Given the description of an element on the screen output the (x, y) to click on. 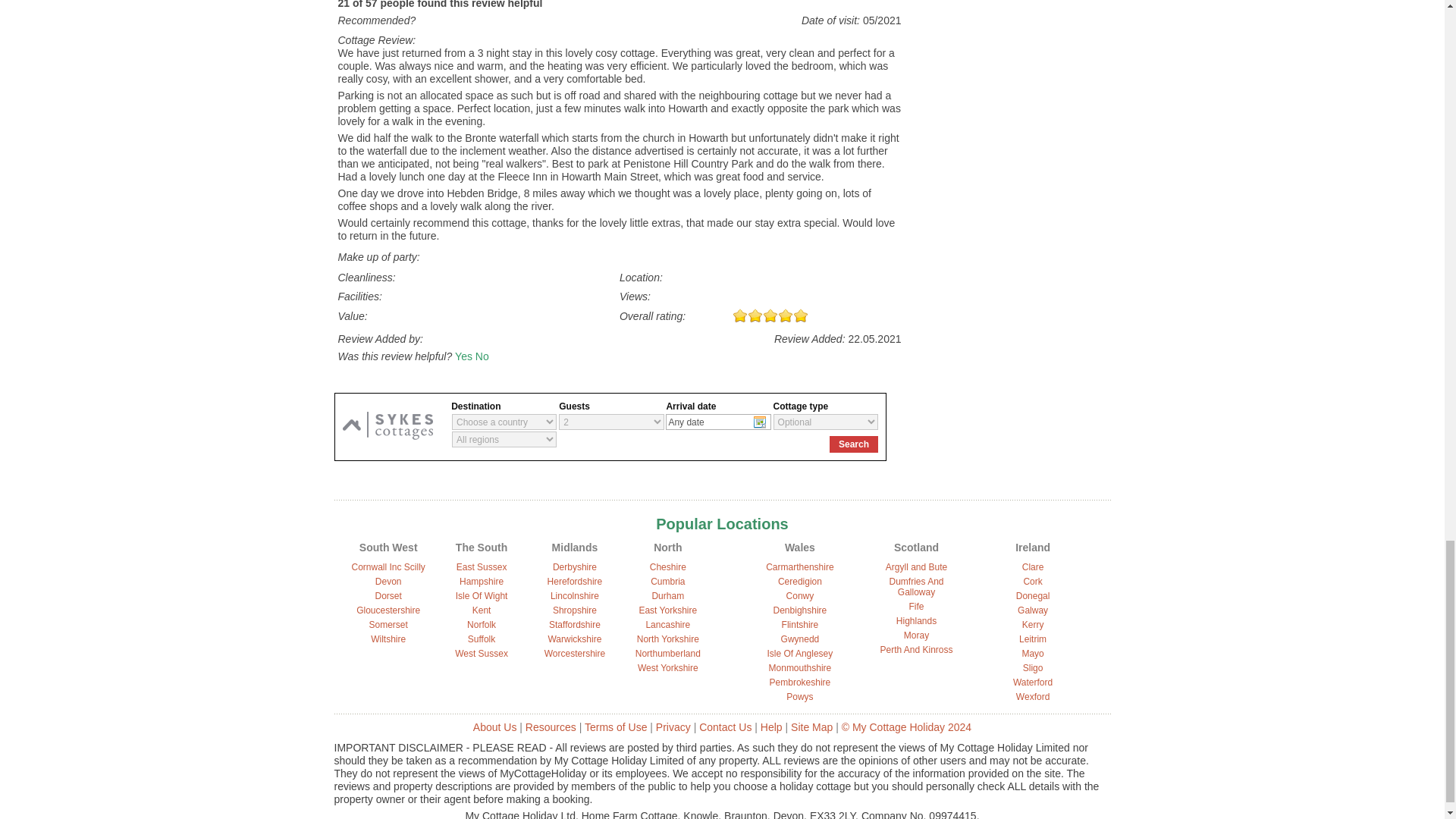
Yes (462, 356)
No (482, 356)
